Given the description of an element on the screen output the (x, y) to click on. 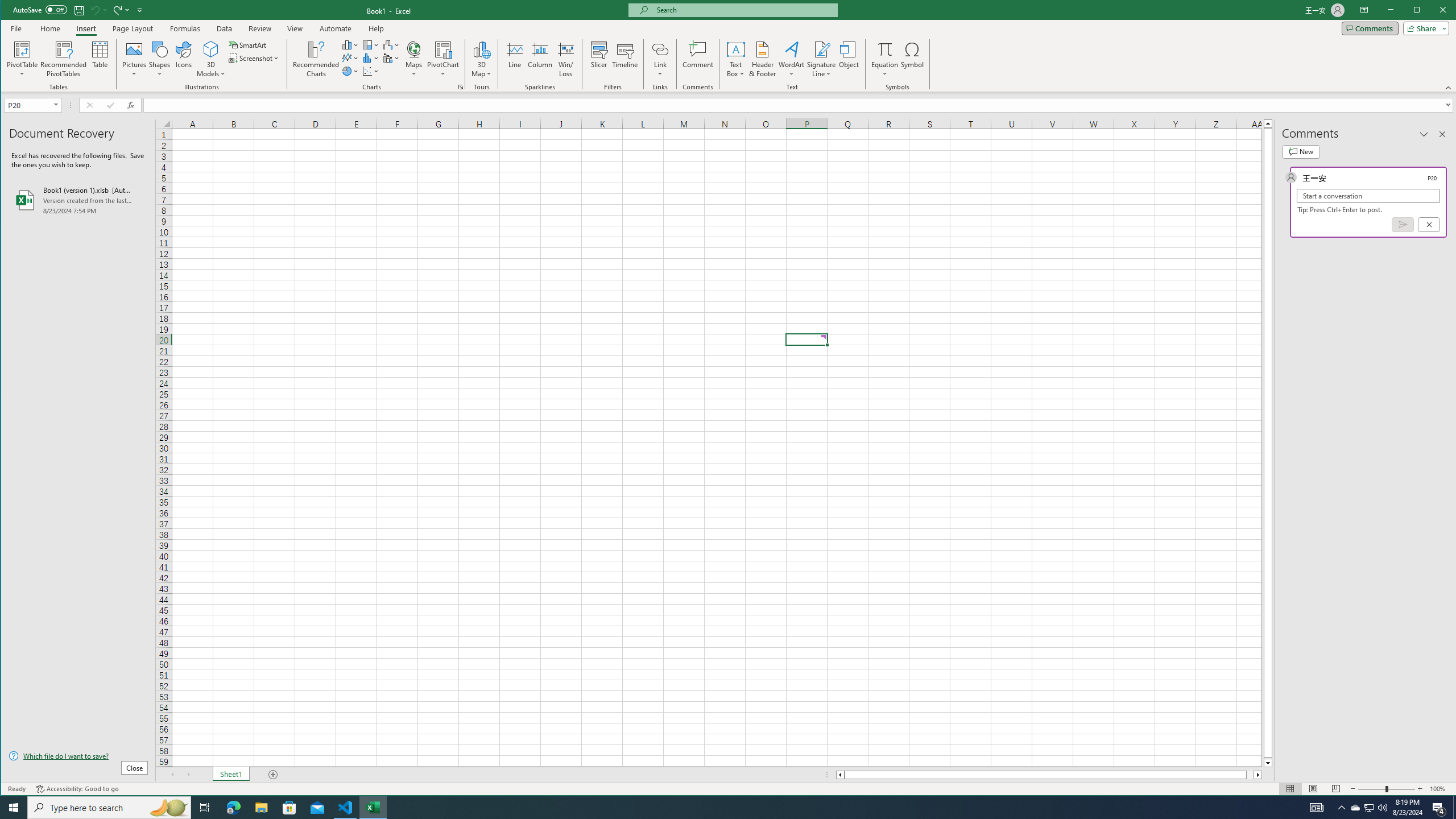
PivotTable (22, 48)
Insert Combo Chart (391, 57)
Zoom (1386, 788)
Page right (1249, 774)
Accessibility Checker Accessibility: Good to go (77, 788)
Insert Scatter (X, Y) or Bubble Chart (371, 70)
Scroll Right (188, 774)
Minimize (1419, 11)
Timeline (625, 59)
Recommended Charts (460, 86)
Undo (98, 9)
Class: NetUIScrollBar (1048, 774)
Share (1423, 27)
Text Box (735, 59)
